Given the description of an element on the screen output the (x, y) to click on. 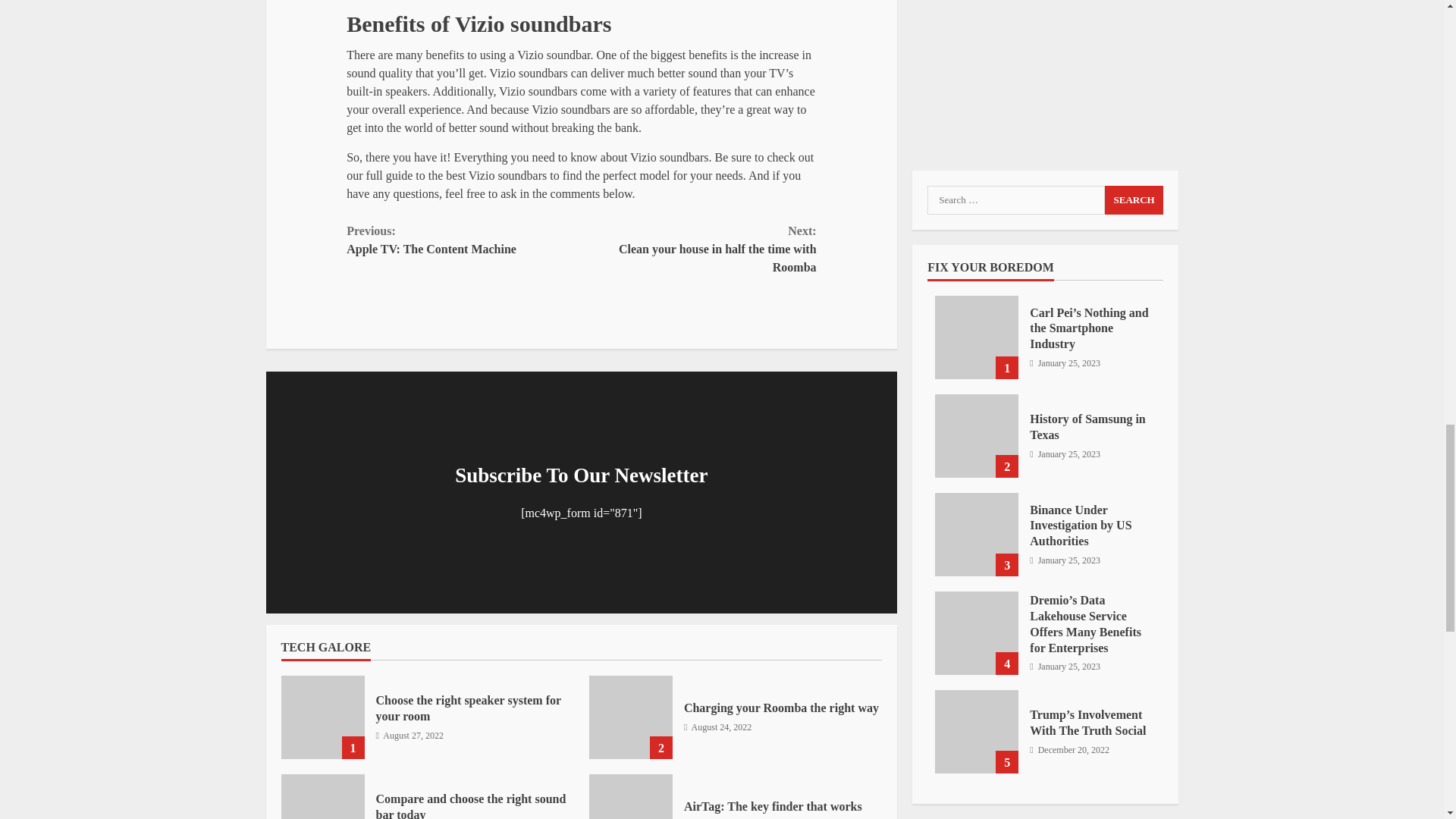
Choose the right speaker system for your room (467, 707)
Choose the right speaker system for your room (463, 239)
Charging your Roomba the right way (322, 717)
AirTag: The key finder that works (781, 707)
Charging your Roomba the right way (772, 806)
Compare and choose the right sound bar today (630, 717)
AirTag: The key finder that works (470, 805)
Compare and choose the right sound bar today (630, 796)
